Given the description of an element on the screen output the (x, y) to click on. 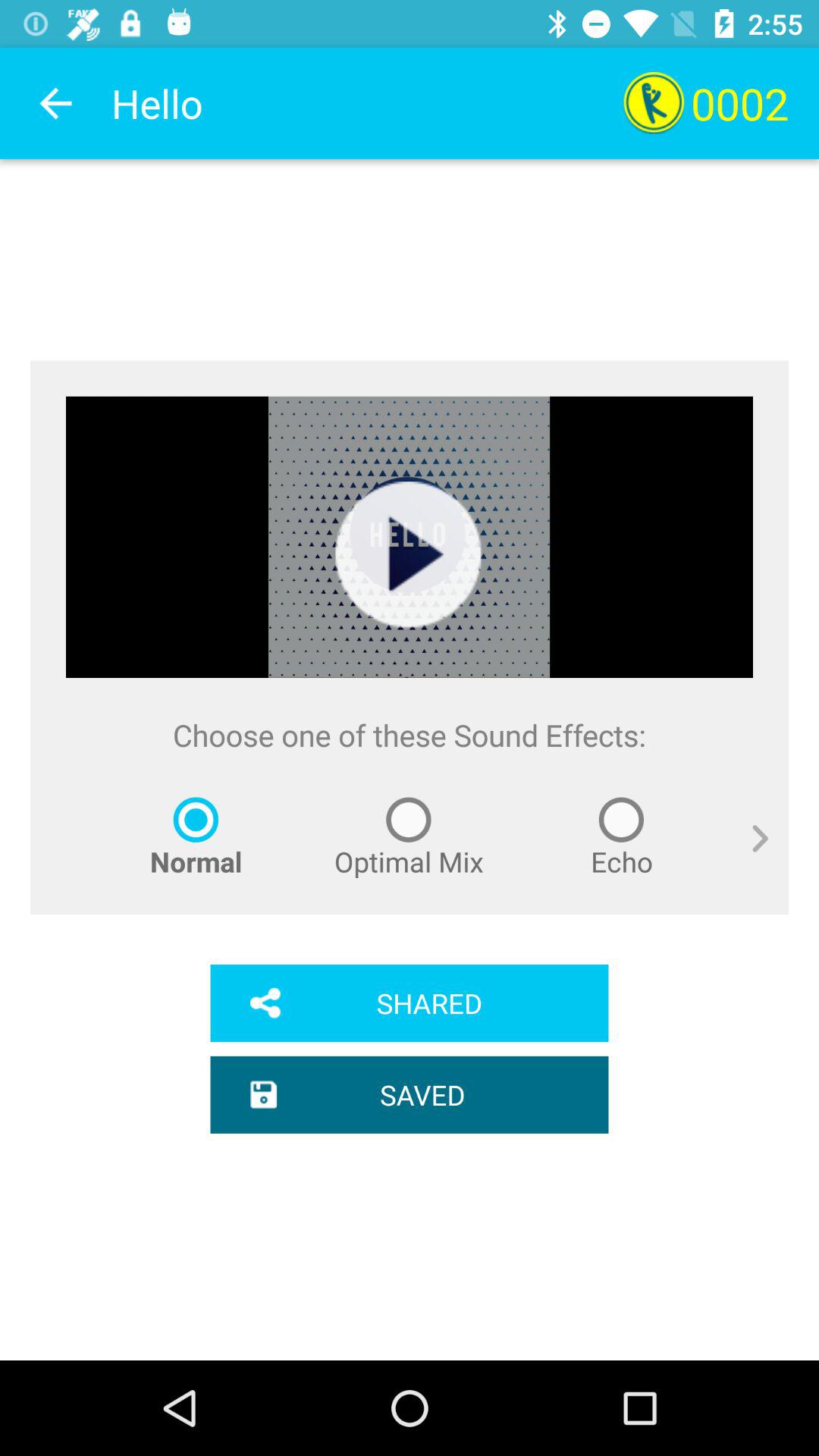
choose item above choose one of icon (408, 555)
